Given the description of an element on the screen output the (x, y) to click on. 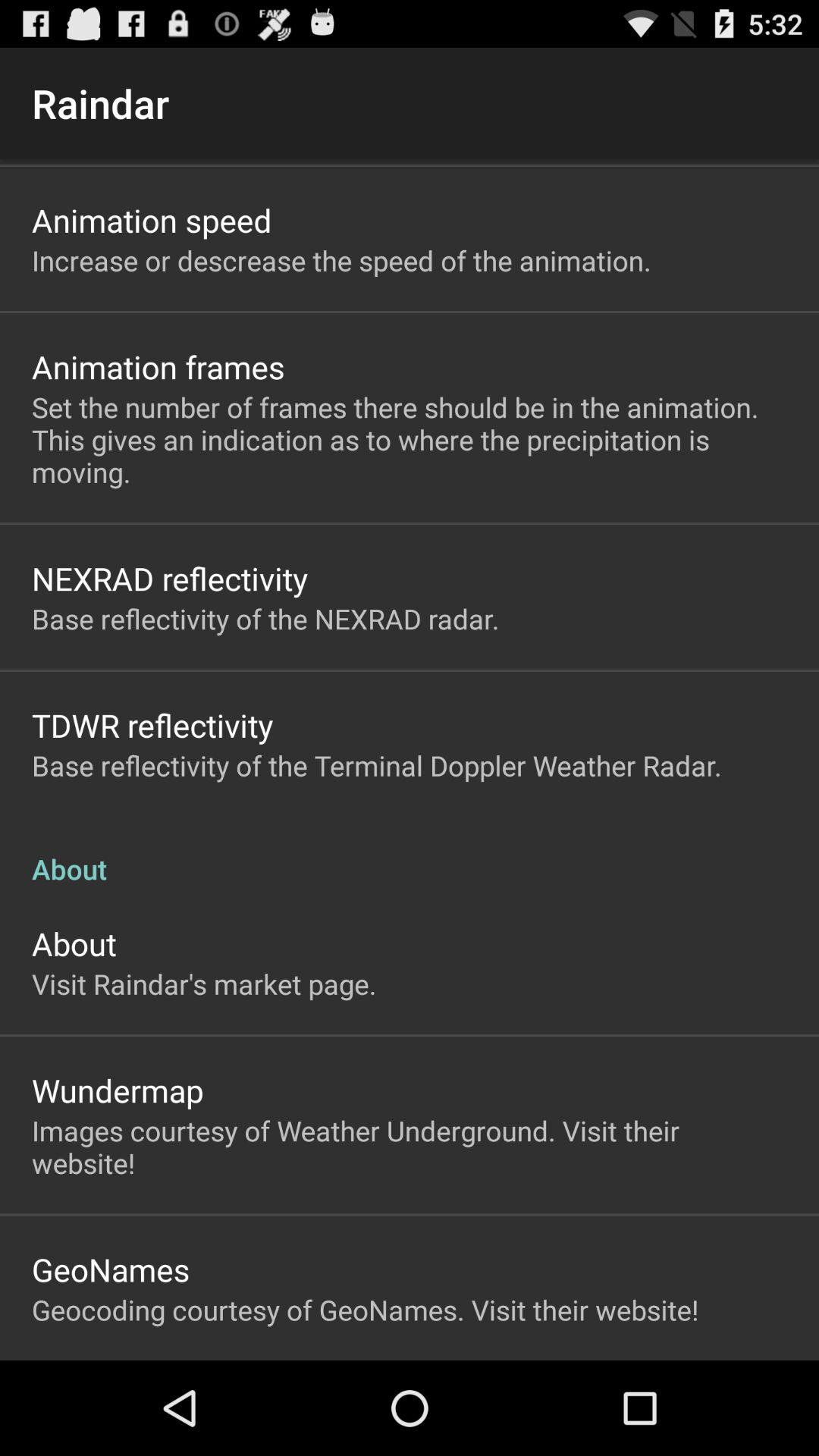
jump to geocoding courtesy of icon (364, 1309)
